Given the description of an element on the screen output the (x, y) to click on. 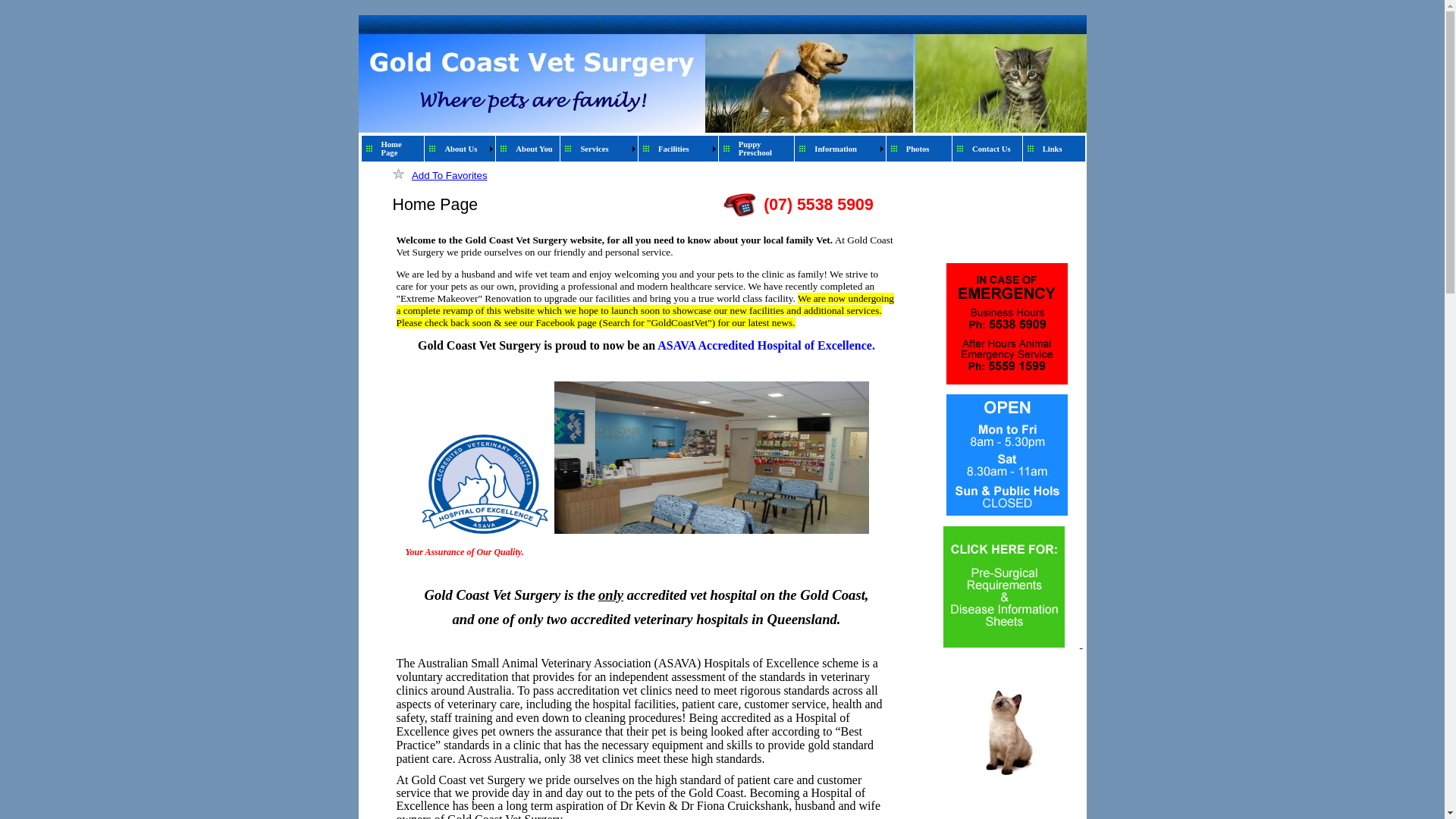
Information Element type: text (843, 148)
Photos Element type: text (926, 148)
Home Page Element type: text (399, 148)
Contact Us Element type: text (994, 148)
ASAVA Accredited Hosp Logo Element type: hover (484, 483)
GCVS Reception Element type: hover (710, 457)
Links Element type: text (1061, 148)
Puppy Preschool Element type: text (763, 148)
  Element type: text (1005, 643)
Services Element type: text (603, 148)
Kitten Element type: hover (1005, 723)
Add To Favorites Element type: text (449, 175)
info Element type: hover (1003, 586)
About Us Element type: text (463, 148)
About You Element type: text (535, 148)
Emerg Element type: hover (1006, 323)
Vet_Gold_Coast_Phone Element type: hover (740, 205)
Facilities Element type: text (682, 148)
Open Element type: hover (1006, 454)
